Given the description of an element on the screen output the (x, y) to click on. 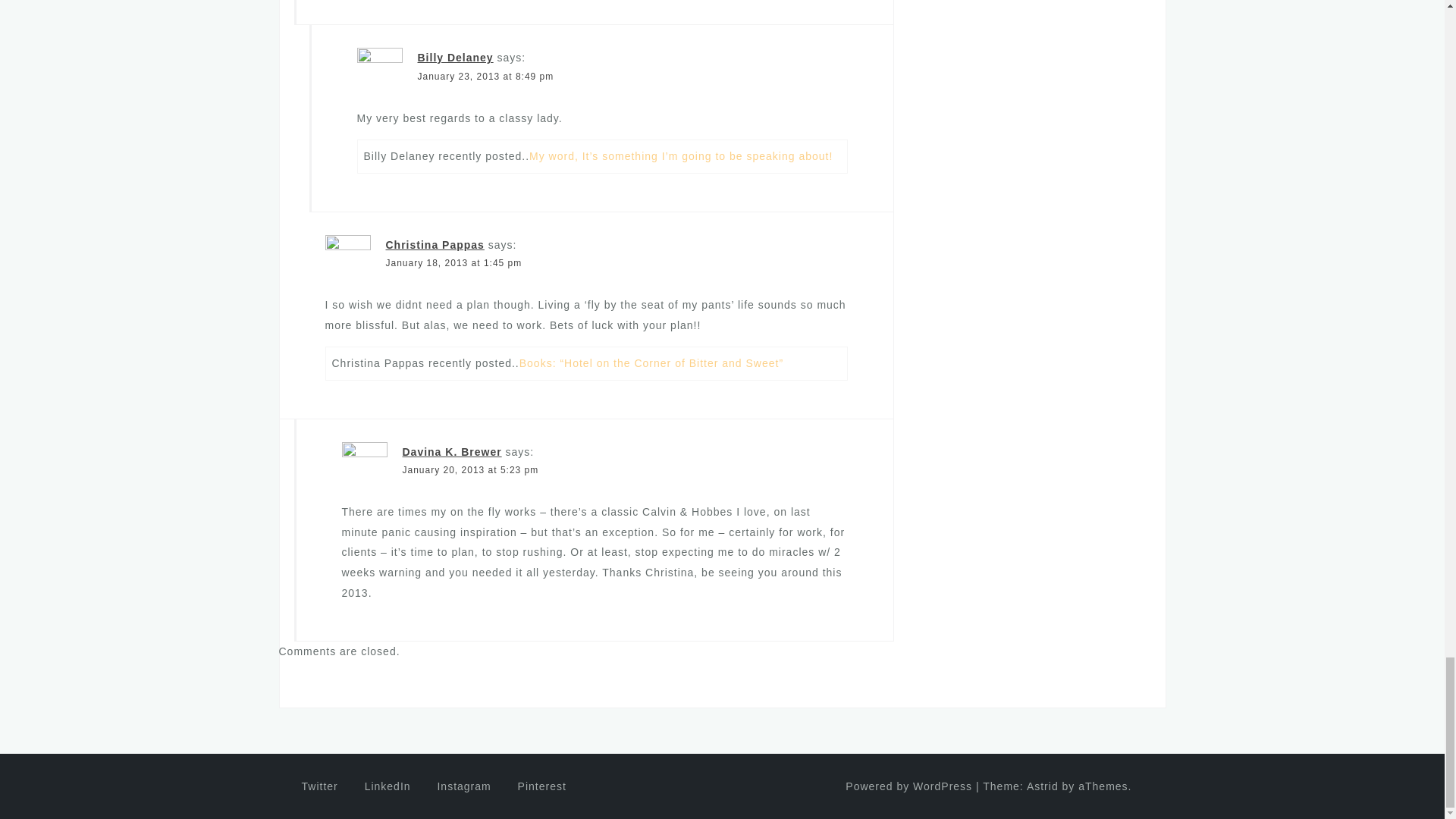
Davina K. Brewer (450, 451)
January 20, 2013 at 5:23 pm (469, 470)
Christina Pappas (434, 244)
Billy Delaney (454, 57)
January 23, 2013 at 8:49 pm (484, 76)
January 18, 2013 at 1:45 pm (453, 262)
